Given the description of an element on the screen output the (x, y) to click on. 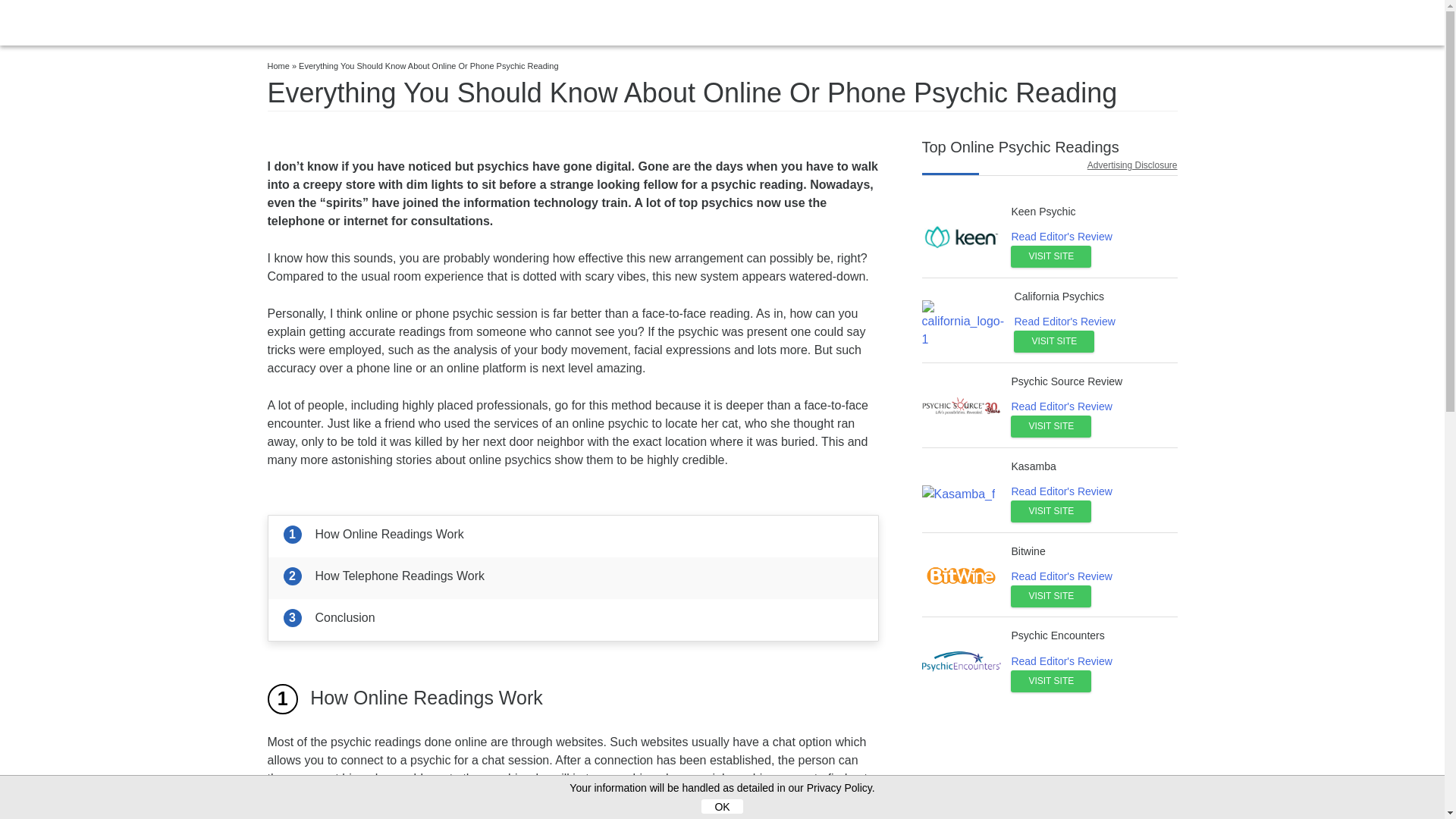
ONLINE PSYCHIC READING GUIDES (983, 22)
PE-F (961, 661)
VISIT SITE (1050, 256)
VISIT SITE (1050, 596)
How Telephone Readings Work (572, 577)
Read Editor's Review (1061, 236)
Psychic Source Review (1066, 381)
CONTACT (1151, 22)
VISIT SITE (1050, 426)
Conclusion (572, 619)
PsychicSource-F (961, 406)
VISIT SITE (1050, 681)
Bitwine (1027, 550)
Read Editor's Review (1061, 491)
